Given the description of an element on the screen output the (x, y) to click on. 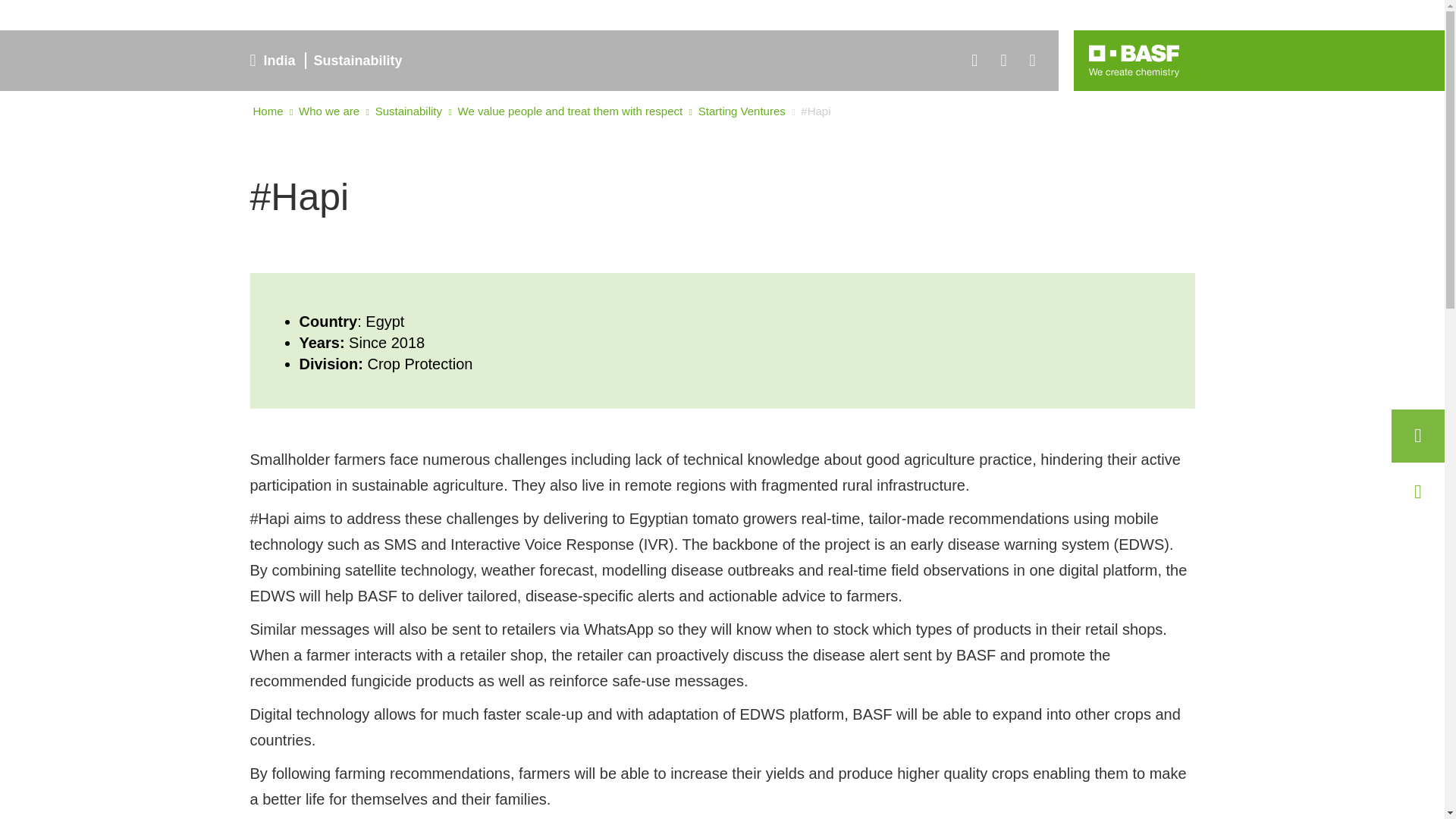
Accessibility mode (1032, 60)
